Given the description of an element on the screen output the (x, y) to click on. 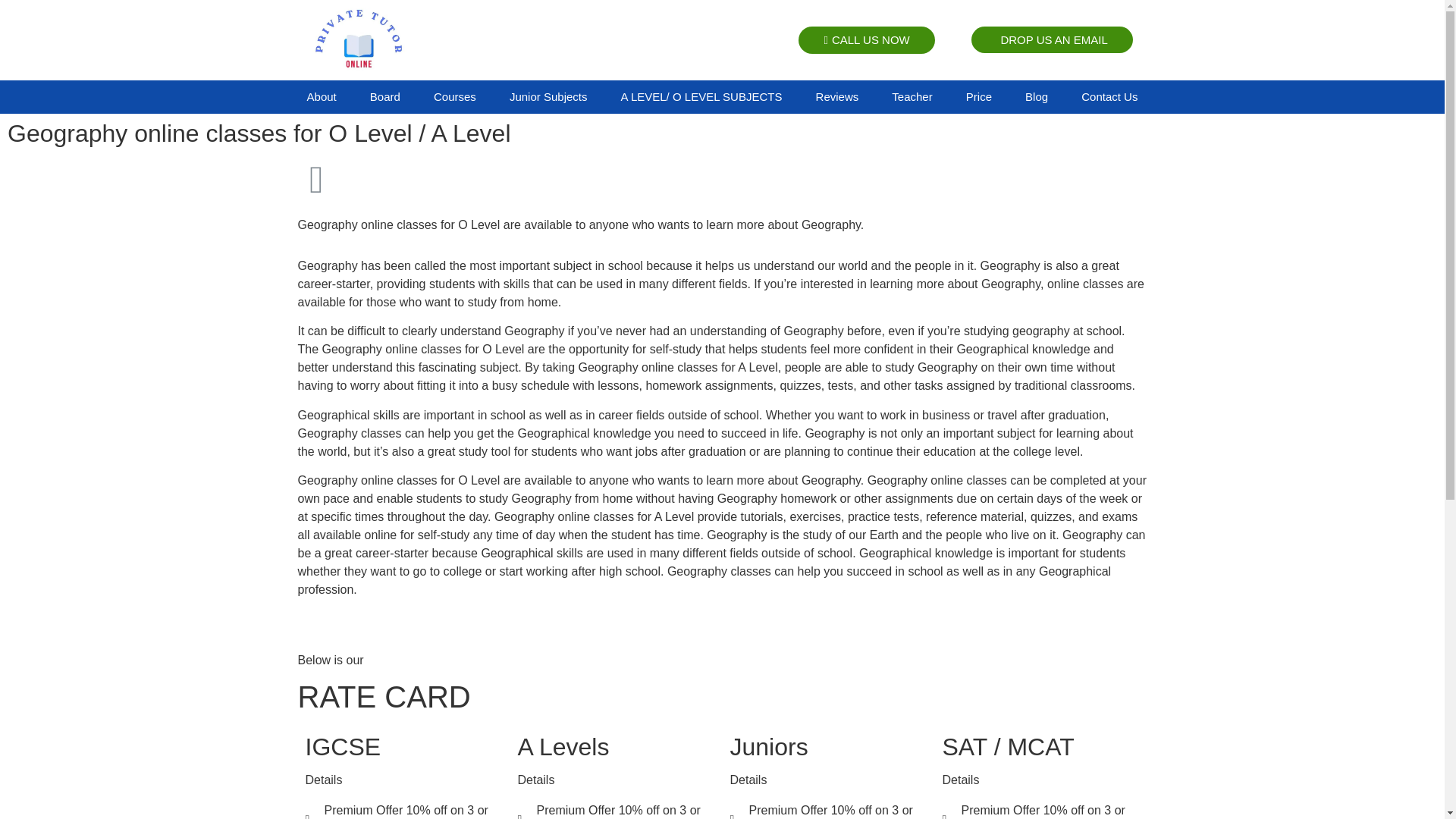
DROP US AN EMAIL (1051, 39)
Board (384, 96)
Teacher (912, 96)
Junior Subjects (548, 96)
CALL US NOW (865, 40)
Courses (454, 96)
Price (979, 96)
Contact Us (1109, 96)
Reviews (837, 96)
About (320, 96)
Blog (1036, 96)
